Given the description of an element on the screen output the (x, y) to click on. 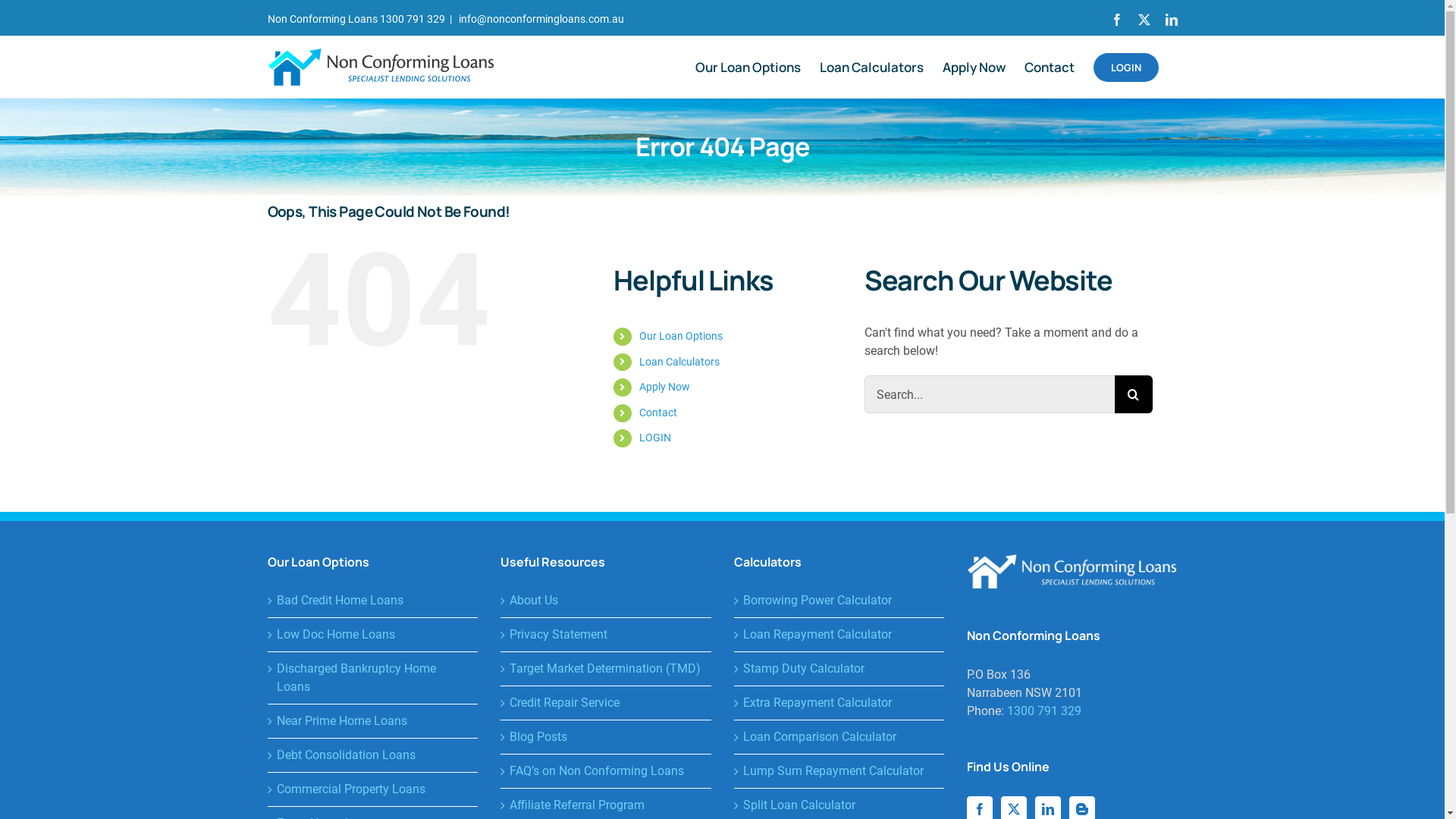
Our Loan Options Element type: text (680, 335)
Extra Repayment Calculator Element type: text (840, 702)
Contact Element type: text (658, 412)
Apply Now Element type: text (664, 386)
Loan Calculators Element type: text (870, 66)
Twitter Element type: text (1143, 19)
Privacy Statement Element type: text (606, 634)
Affiliate Referral Program Element type: text (606, 805)
Lump Sum Repayment Calculator Element type: text (840, 771)
Blog Posts Element type: text (606, 737)
Discharged Bankruptcy Home Loans Element type: text (373, 677)
LOGIN Element type: text (1125, 66)
Apply Now Element type: text (972, 66)
Our Loan Options Element type: text (747, 66)
Split Loan Calculator Element type: text (840, 805)
Low Doc Home Loans Element type: text (373, 634)
Loan Comparison Calculator Element type: text (840, 737)
info@nonconformingloans.com.au Element type: text (540, 18)
Commercial Property Loans Element type: text (373, 789)
Borrowing Power Calculator Element type: text (840, 600)
Target Market Determination (TMD) Element type: text (606, 668)
Bad Credit Home Loans Element type: text (373, 600)
Facebook Element type: text (1116, 19)
Loan Repayment Calculator Element type: text (840, 634)
Contact Element type: text (1048, 66)
About Us Element type: text (606, 600)
Debt Consolidation Loans Element type: text (373, 755)
LOGIN Element type: text (655, 437)
Credit Repair Service Element type: text (606, 702)
Near Prime Home Loans Element type: text (373, 721)
Loan Calculators Element type: text (679, 361)
1300 791 329 Element type: text (1044, 710)
Stamp Duty Calculator Element type: text (840, 668)
LinkedIn Element type: text (1170, 19)
